Given the description of an element on the screen output the (x, y) to click on. 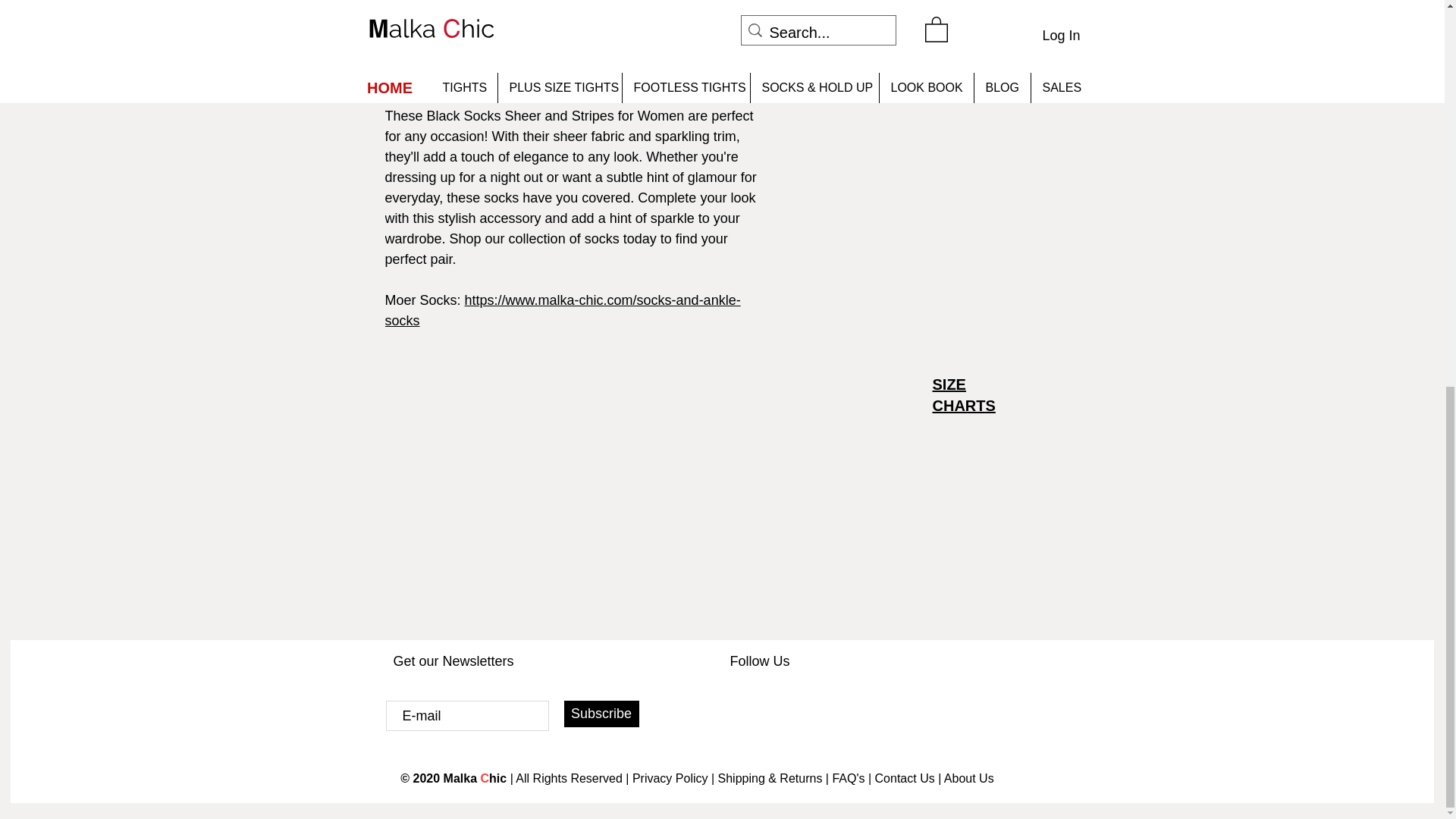
Free SHIPPING From Chicago to the US and Worldwide (924, 3)
